Given the description of an element on the screen output the (x, y) to click on. 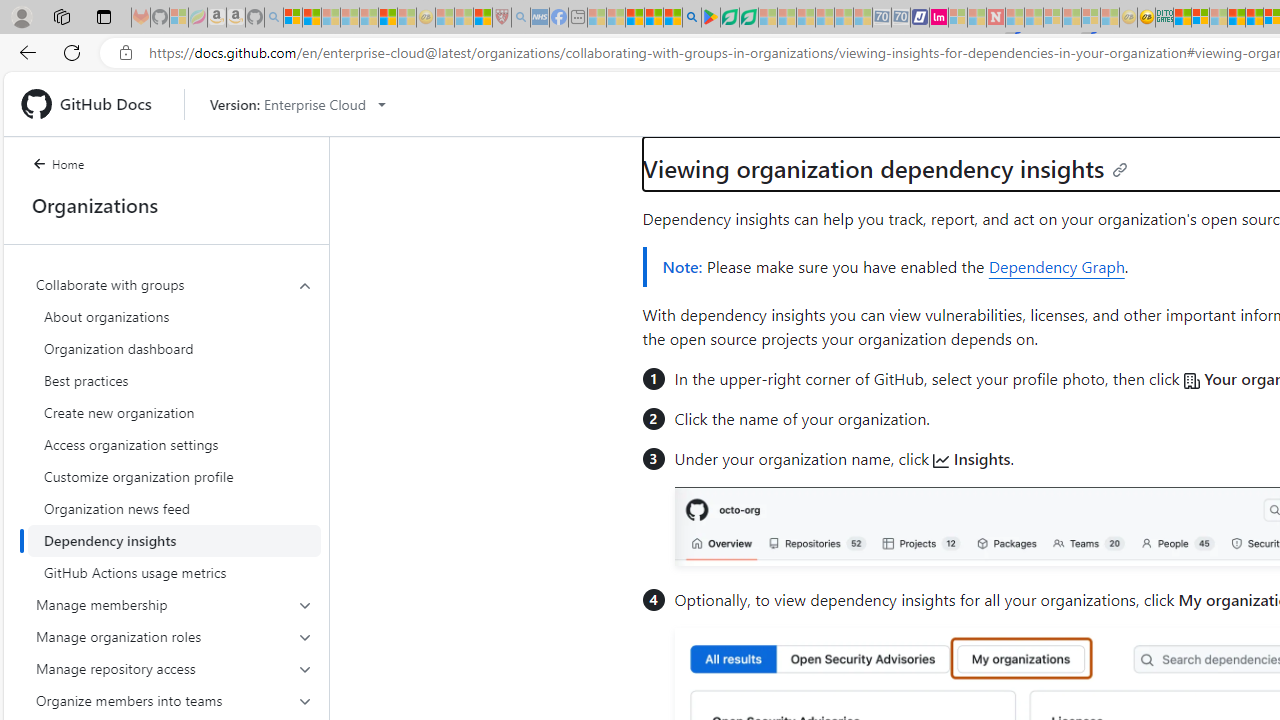
Organization news feed (174, 508)
Collaborate with groups (174, 284)
Pets - MSN (654, 17)
Organize members into teams (174, 700)
Create new organization (174, 412)
Organization dashboard (174, 348)
Collaborate with groups (174, 428)
Access organization settings (174, 444)
